Given the description of an element on the screen output the (x, y) to click on. 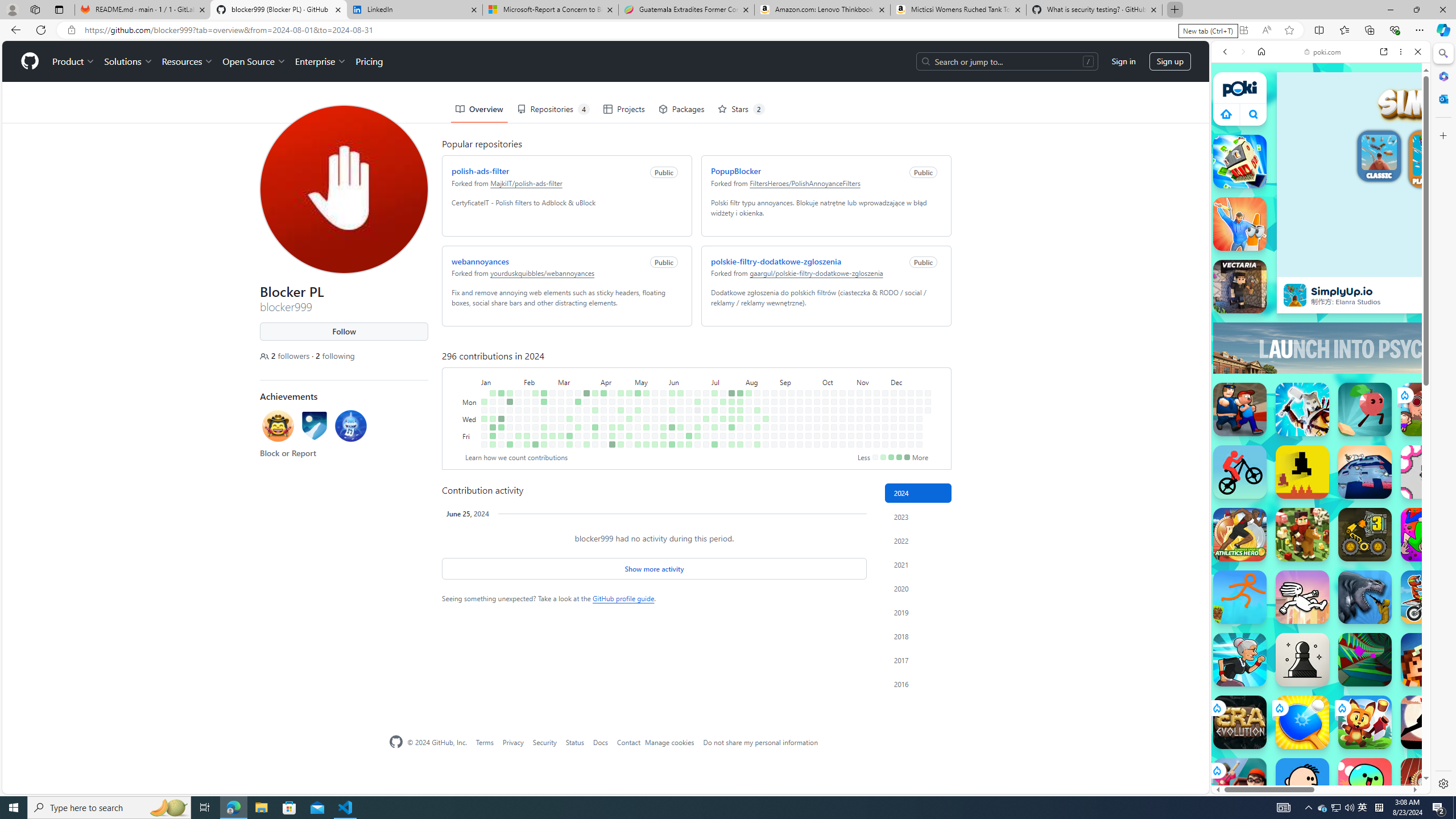
BoxRob 3 BoxRob 3 (1364, 534)
10 contributions on March 24th. (586, 392)
Contribution activity in 2016 (917, 683)
October (838, 380)
Hills of Steel (1253, 574)
No contributions on November 29th. (885, 435)
School Escape! School Escape! (1239, 784)
Athletics Hero Athletics Hero (1239, 534)
No contributions on February 1st. (518, 427)
Games for Girls (1320, 407)
Homepage (395, 741)
